Given the description of an element on the screen output the (x, y) to click on. 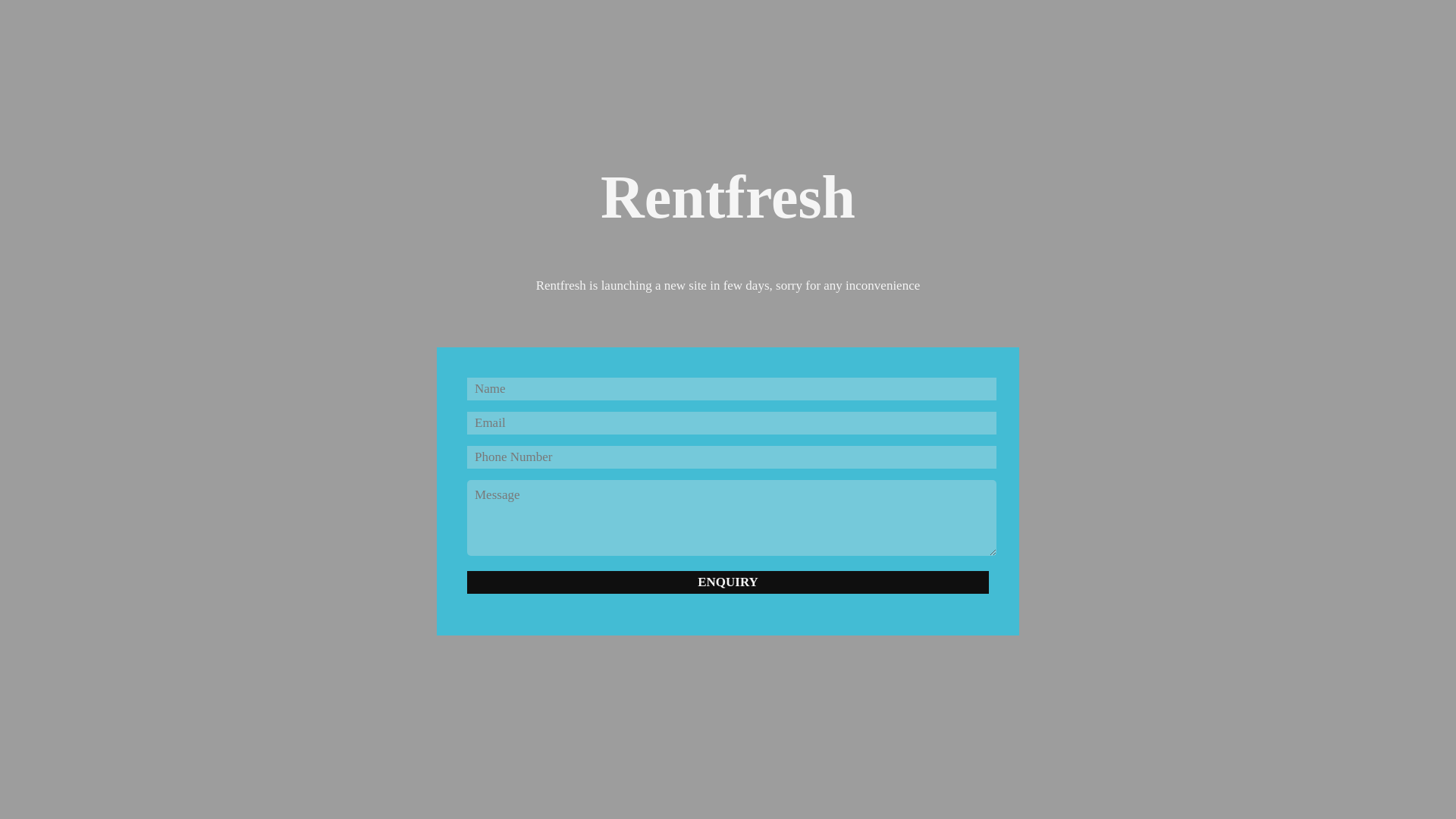
Enquiry (727, 581)
Rentfresh (727, 207)
Enquiry (727, 581)
